Given the description of an element on the screen output the (x, y) to click on. 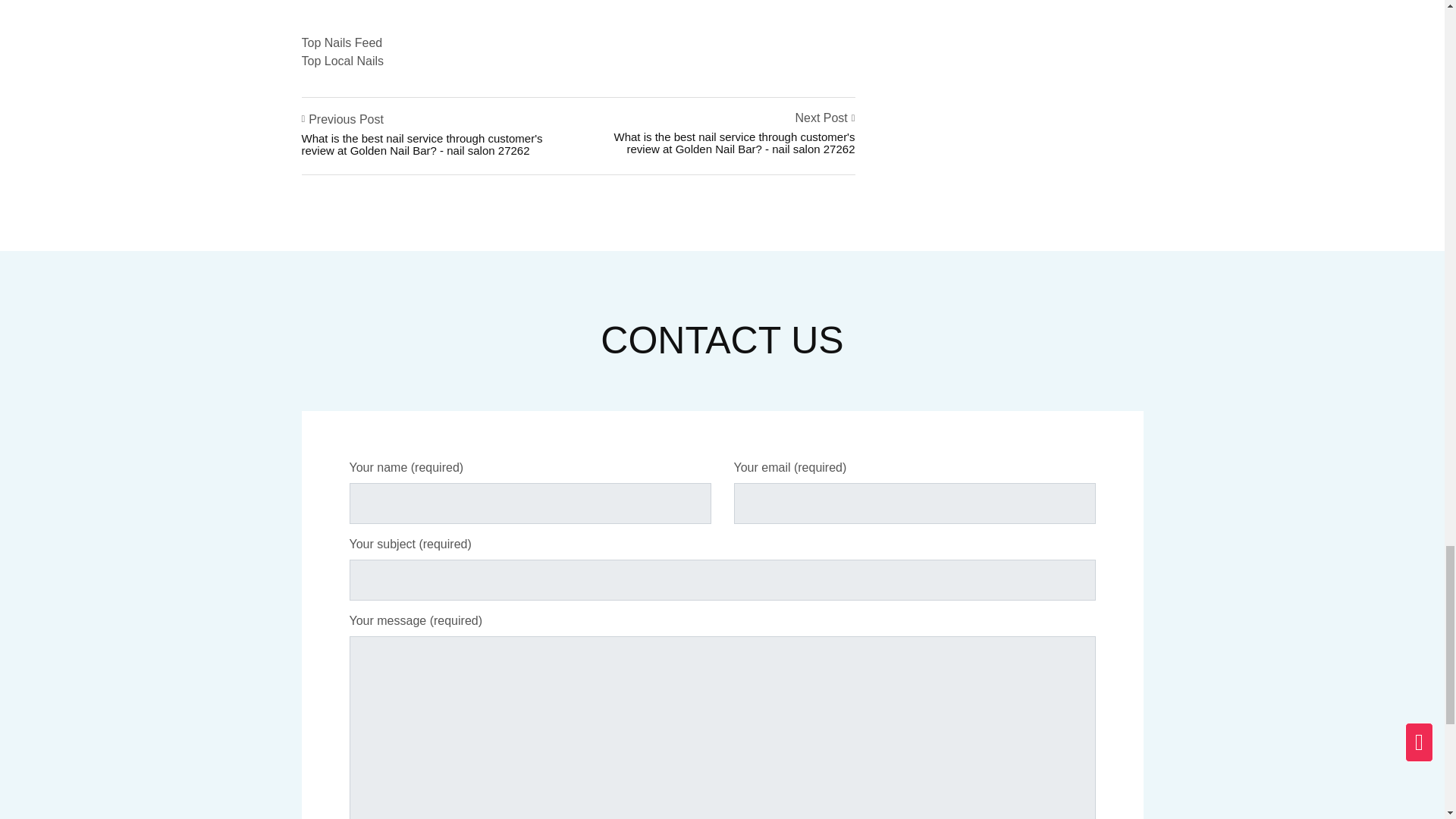
Top Local Nails  (344, 60)
Top Nails Feed  (343, 42)
